Given the description of an element on the screen output the (x, y) to click on. 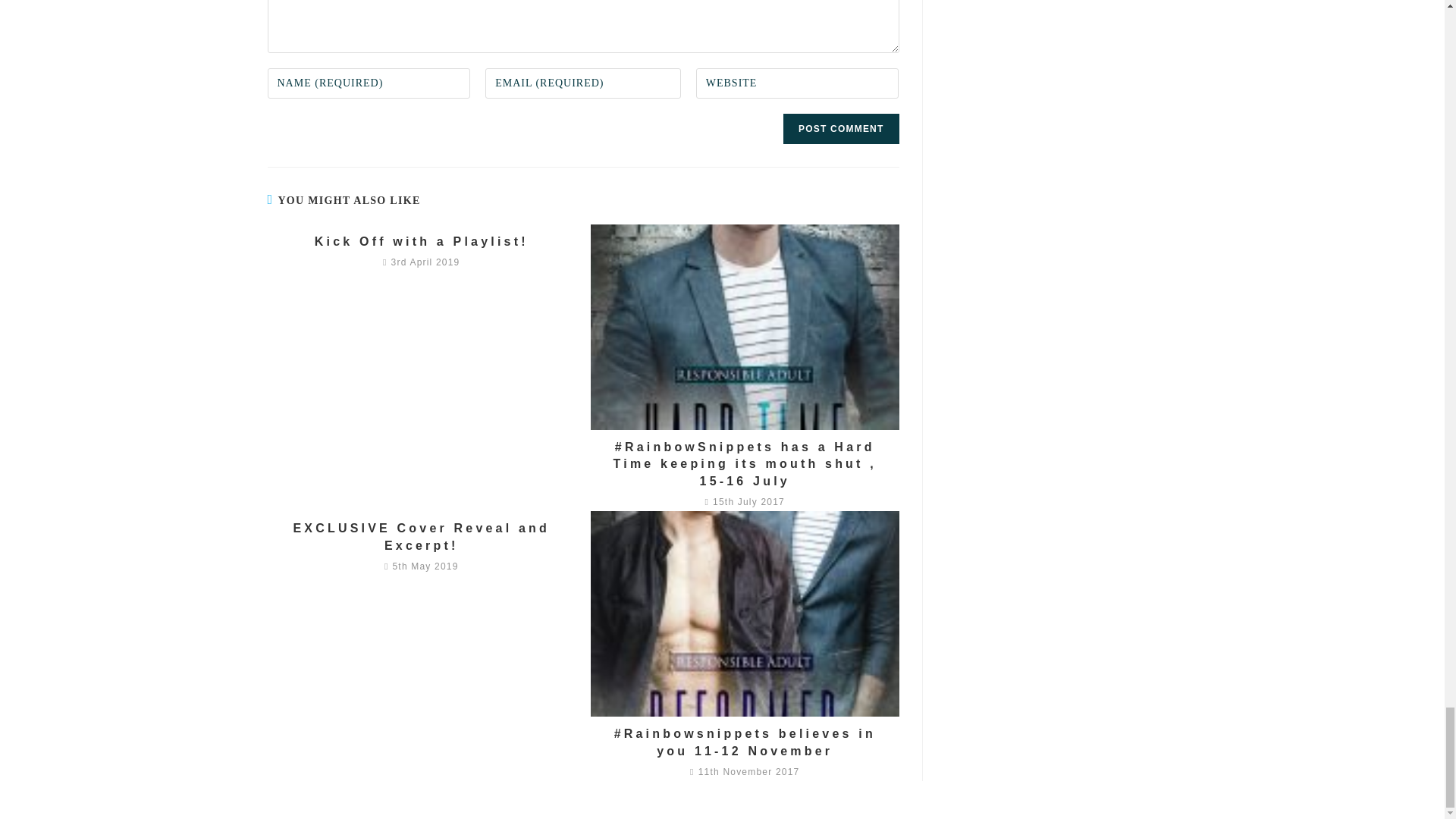
Kick Off with a Playlist! (421, 241)
EXCLUSIVE Cover Reveal and Excerpt! (421, 537)
Post Comment (840, 128)
